Given the description of an element on the screen output the (x, y) to click on. 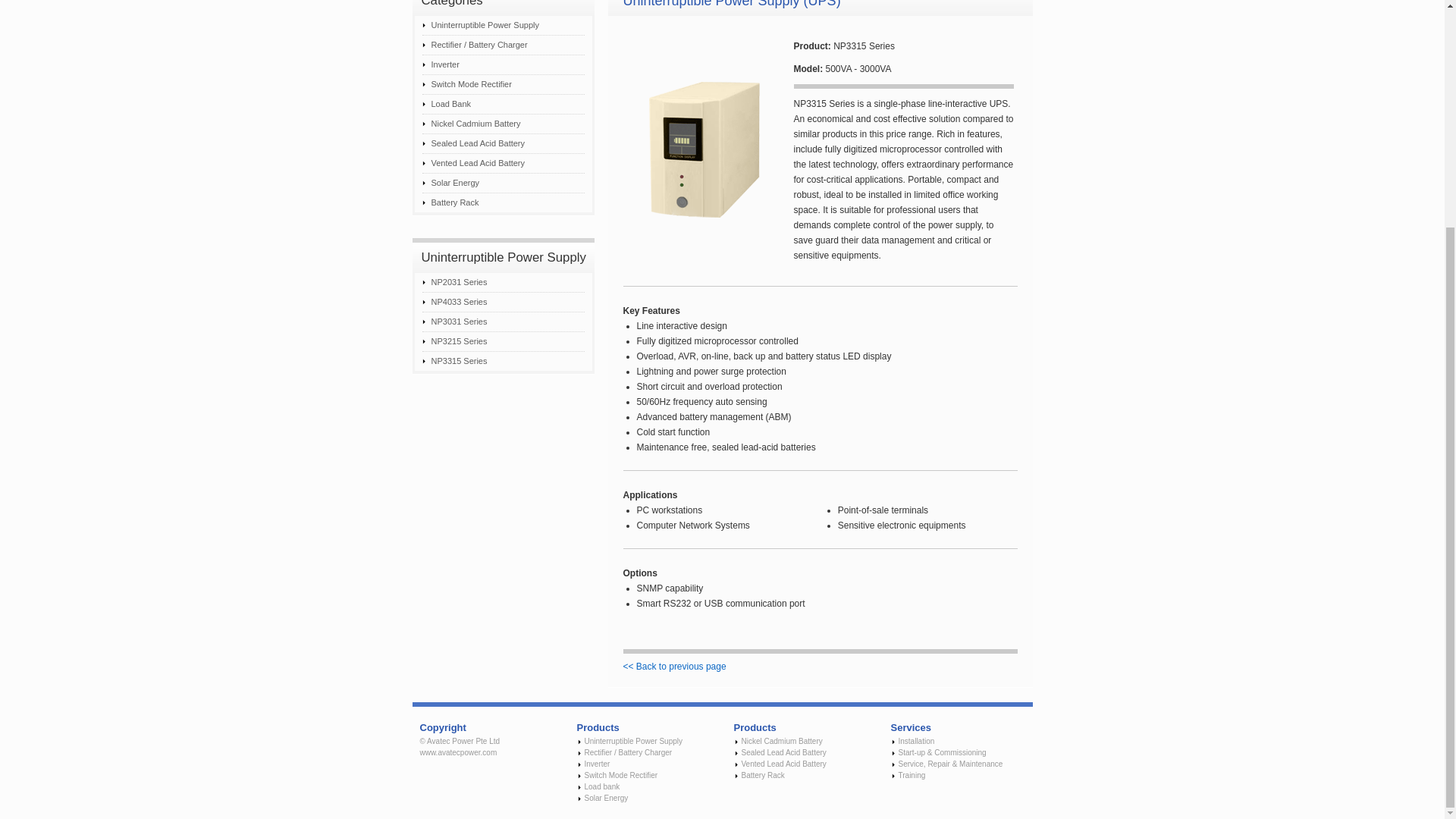
NP3031 Series (502, 322)
Sealed Lead Acid Battery (784, 752)
Installation (916, 741)
NP4033 Series (502, 302)
NP3215 Series (502, 342)
Sealed Lead Acid Battery (502, 143)
Solar Energy (502, 183)
Uninterruptible Power Supply (632, 741)
NP2031 Series (502, 282)
Solar Energy (605, 797)
Nickel Cadmium Battery (502, 124)
Battery Rack (502, 202)
Inverter (596, 764)
Load Bank (502, 104)
Inverter (502, 65)
